Given the description of an element on the screen output the (x, y) to click on. 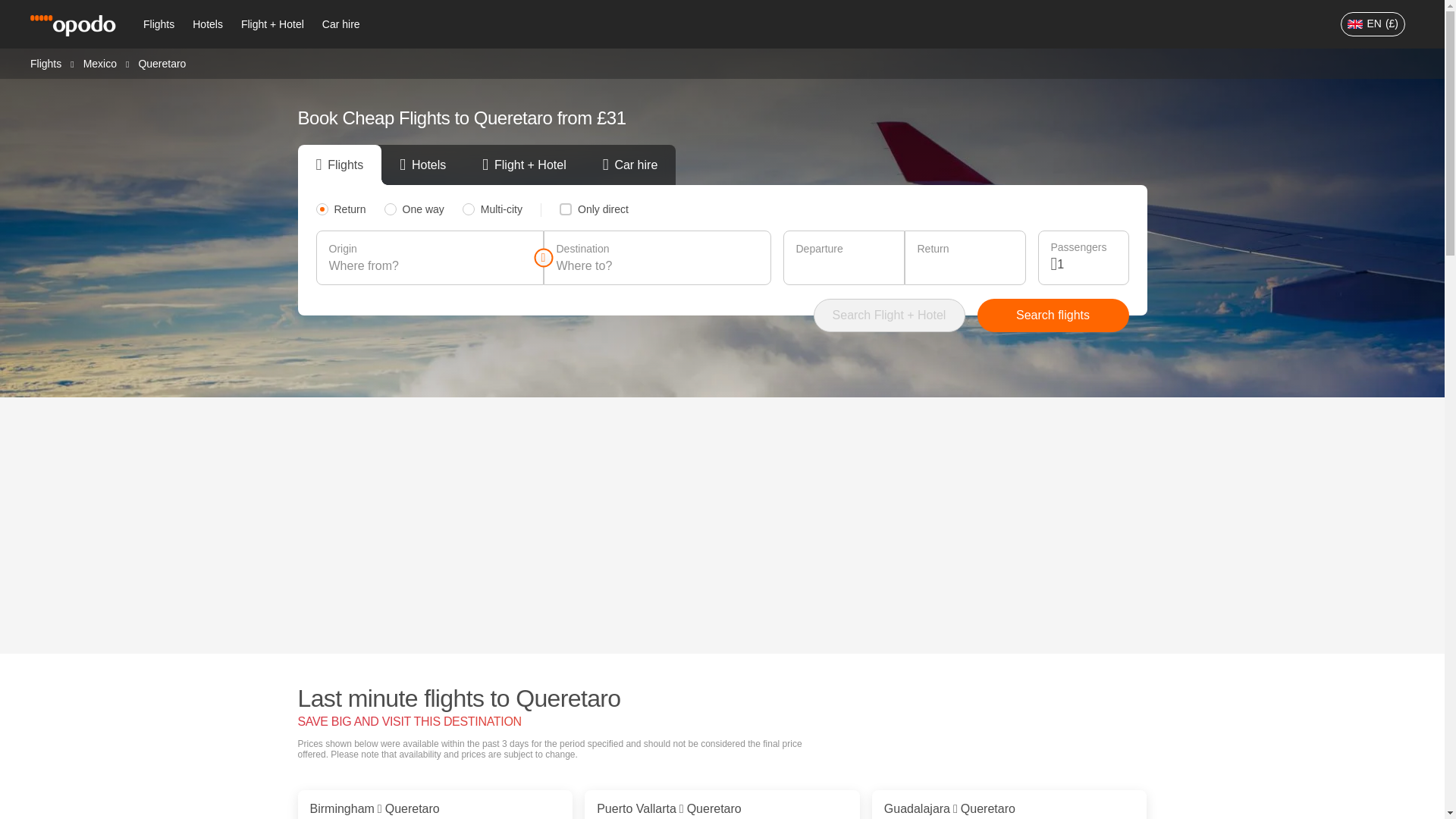
Flights (158, 24)
1 (1086, 263)
Queretaro (162, 63)
Car hire (341, 24)
Flights (45, 62)
Hotels (207, 24)
Search flights (1052, 315)
Mexico (99, 62)
